Given the description of an element on the screen output the (x, y) to click on. 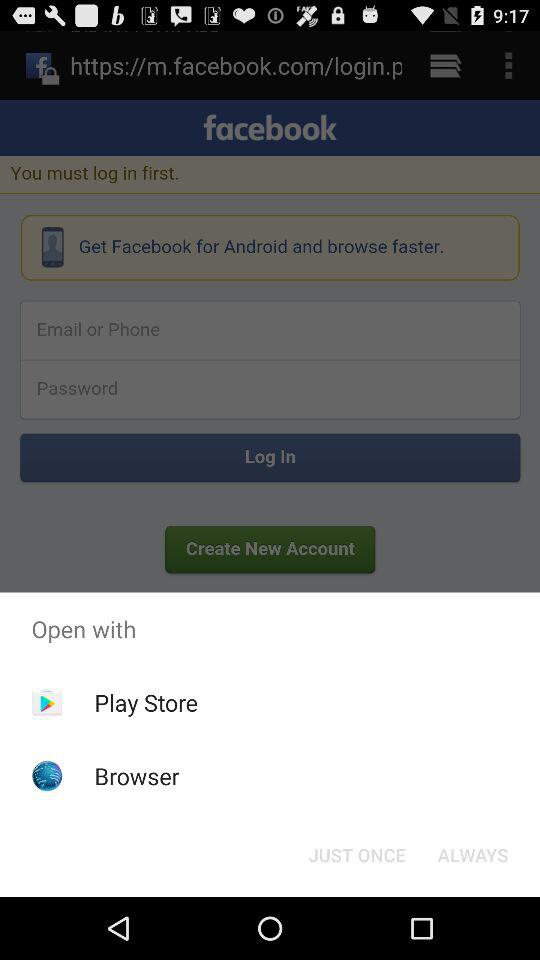
select app below open with item (472, 854)
